Given the description of an element on the screen output the (x, y) to click on. 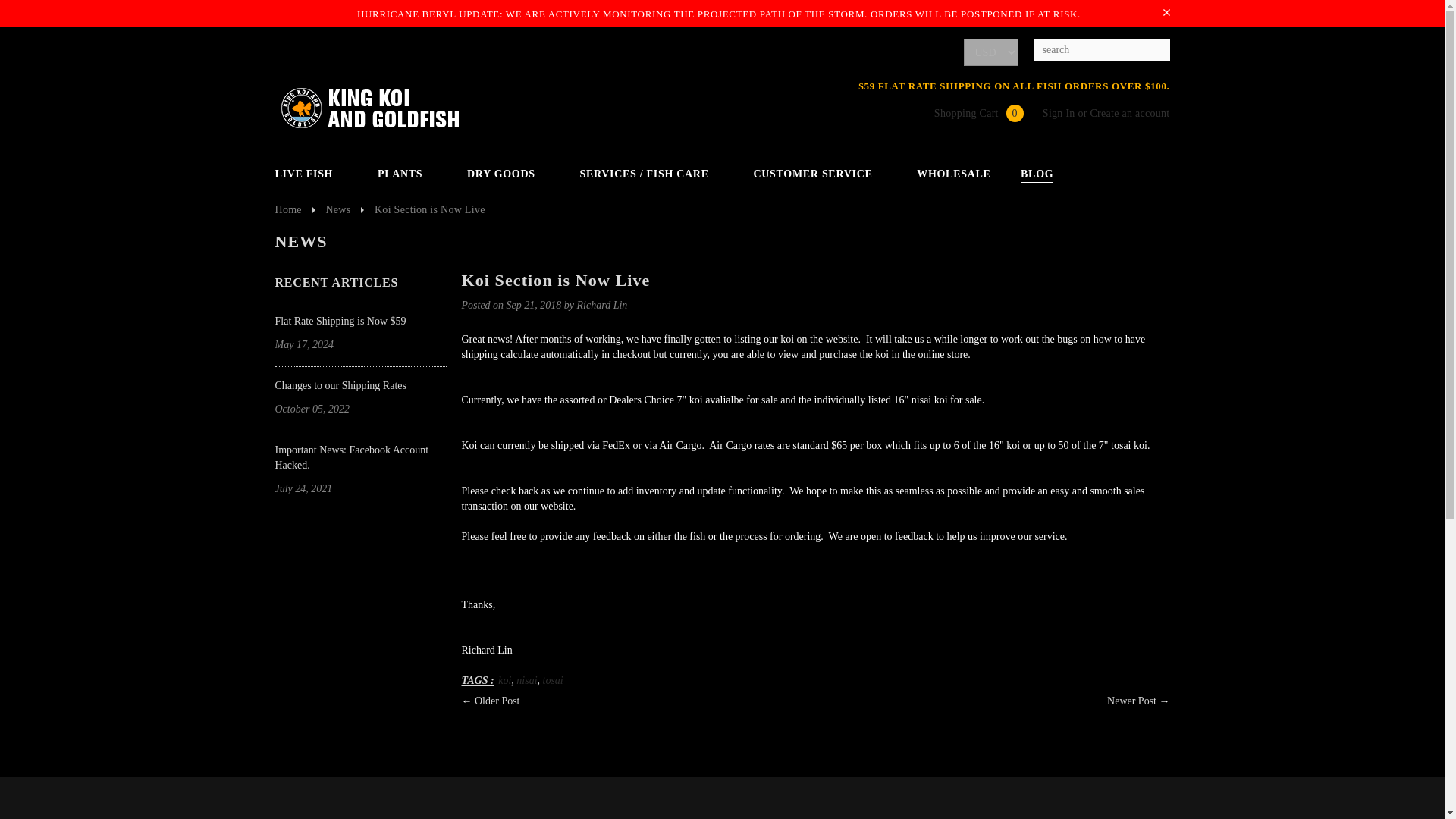
Shopping Cart 0 (969, 112)
LIVE FISH (311, 174)
Sign In (1058, 112)
Create an account (1129, 112)
PLANTS (407, 174)
Help widget launcher (1368, 781)
